Given the description of an element on the screen output the (x, y) to click on. 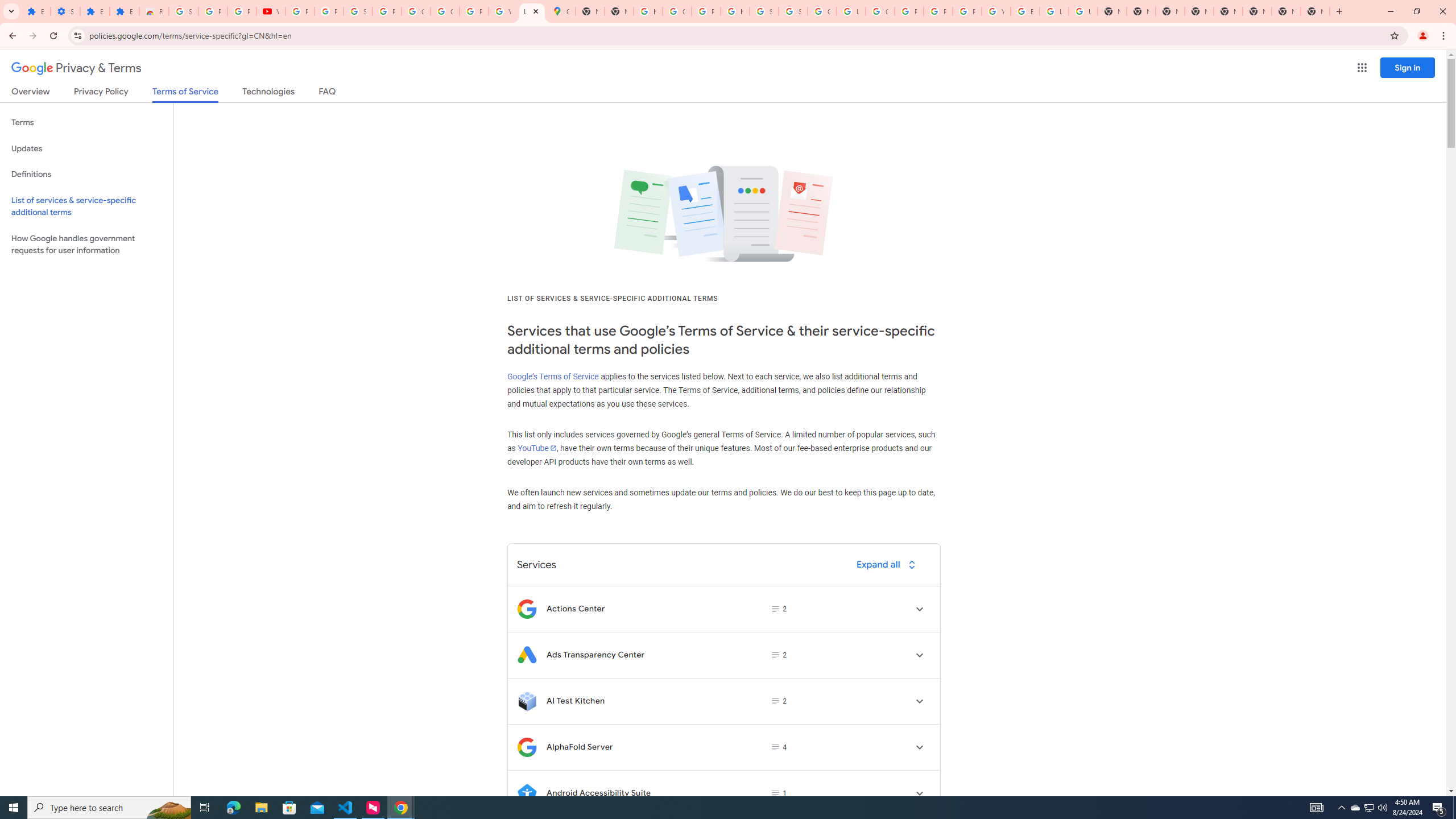
Definitions (86, 174)
Expand all (888, 564)
Settings (65, 11)
New Tab (1169, 11)
